Given the description of an element on the screen output the (x, y) to click on. 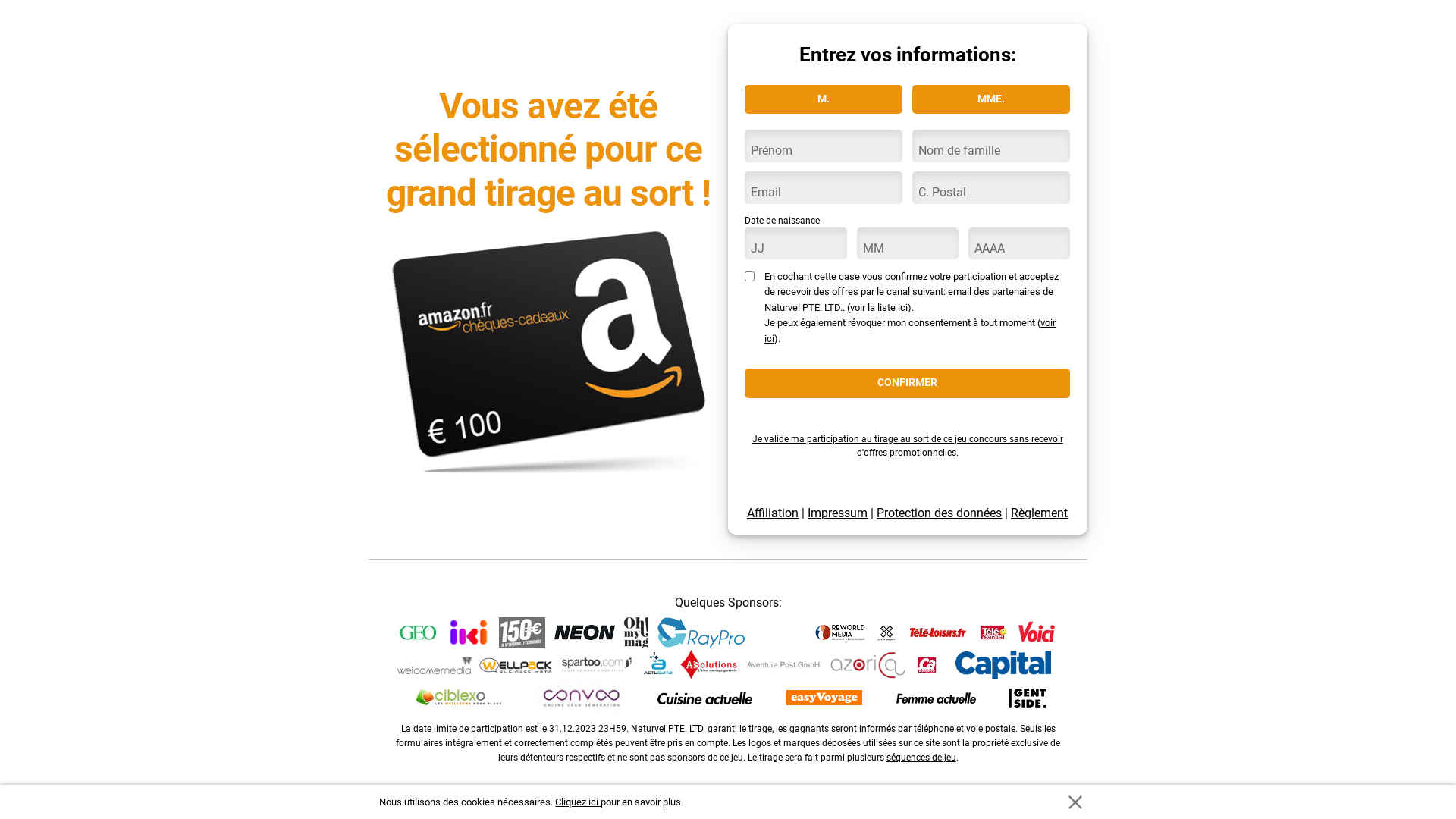
Affiliation Element type: text (772, 512)
voir la liste ici Element type: text (878, 307)
Impressum Element type: text (837, 512)
voir ici Element type: text (909, 329)
Cliquez ici Element type: text (577, 801)
